Given the description of an element on the screen output the (x, y) to click on. 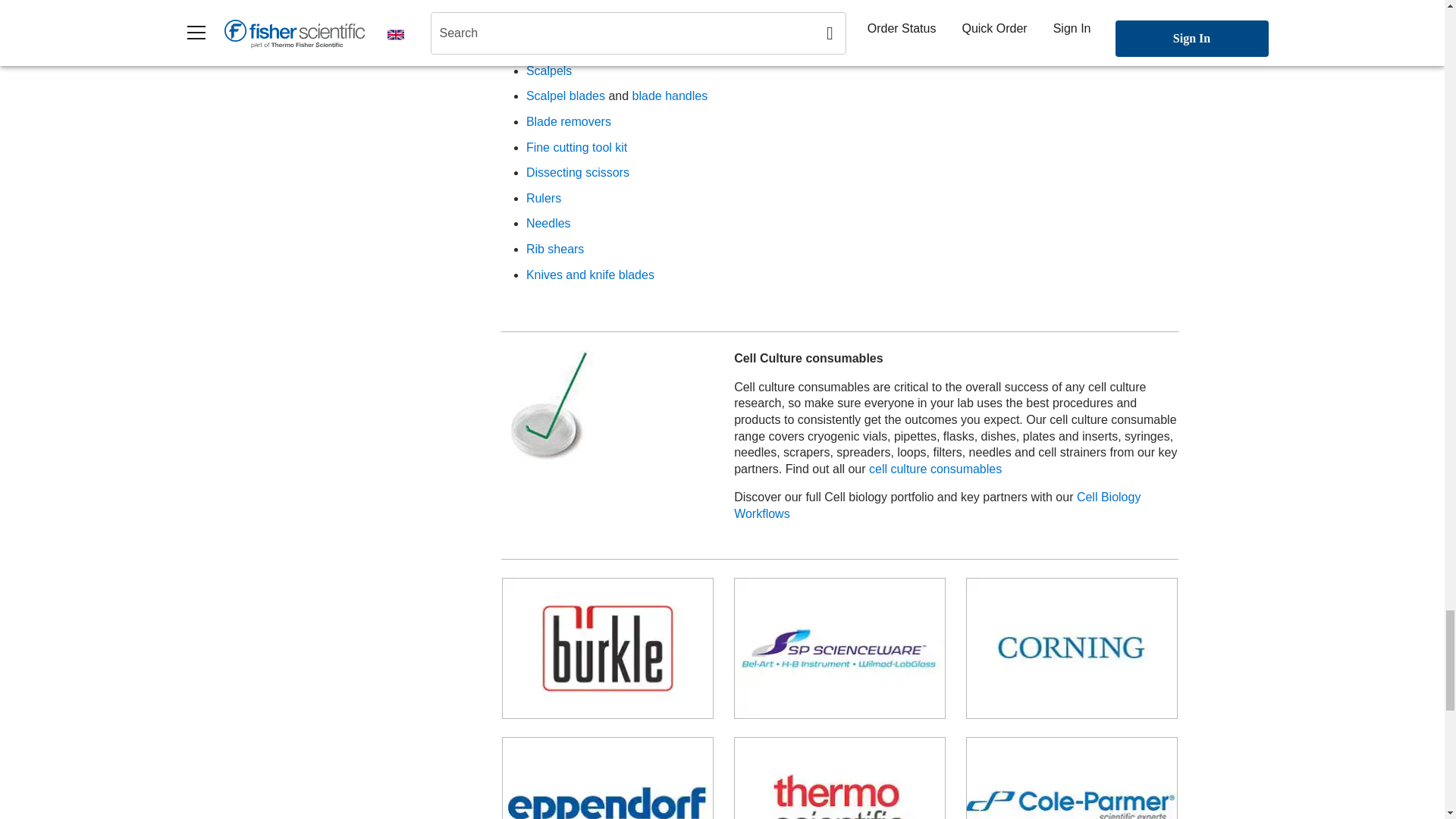
Eppendorf (607, 778)
Buerkle (607, 648)
Corning (1071, 648)
Scienceware Bel Art (838, 648)
Cole-Parmer (1071, 778)
Thermo Scientifc (838, 778)
